Given the description of an element on the screen output the (x, y) to click on. 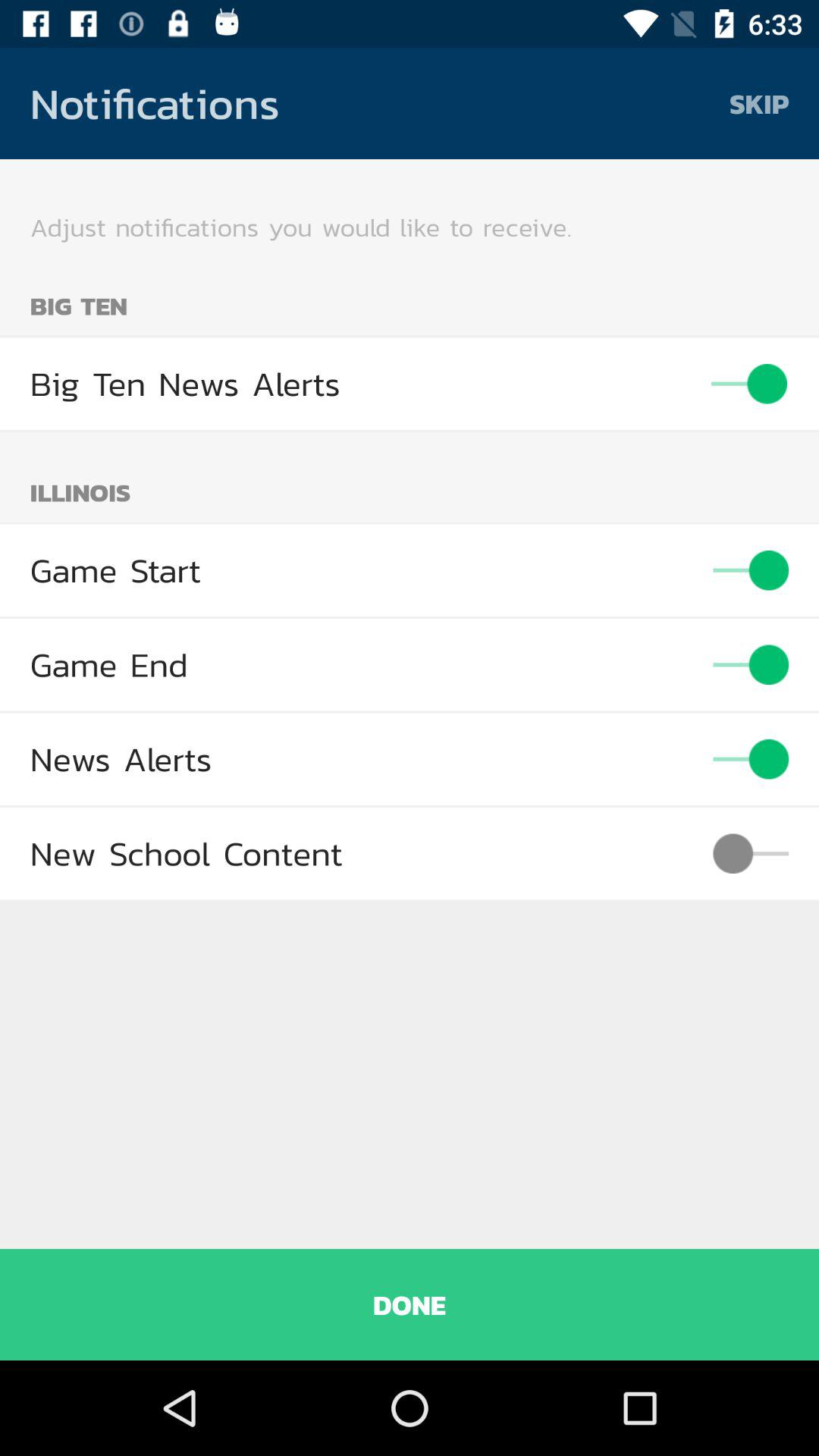
open skip icon (758, 103)
